Given the description of an element on the screen output the (x, y) to click on. 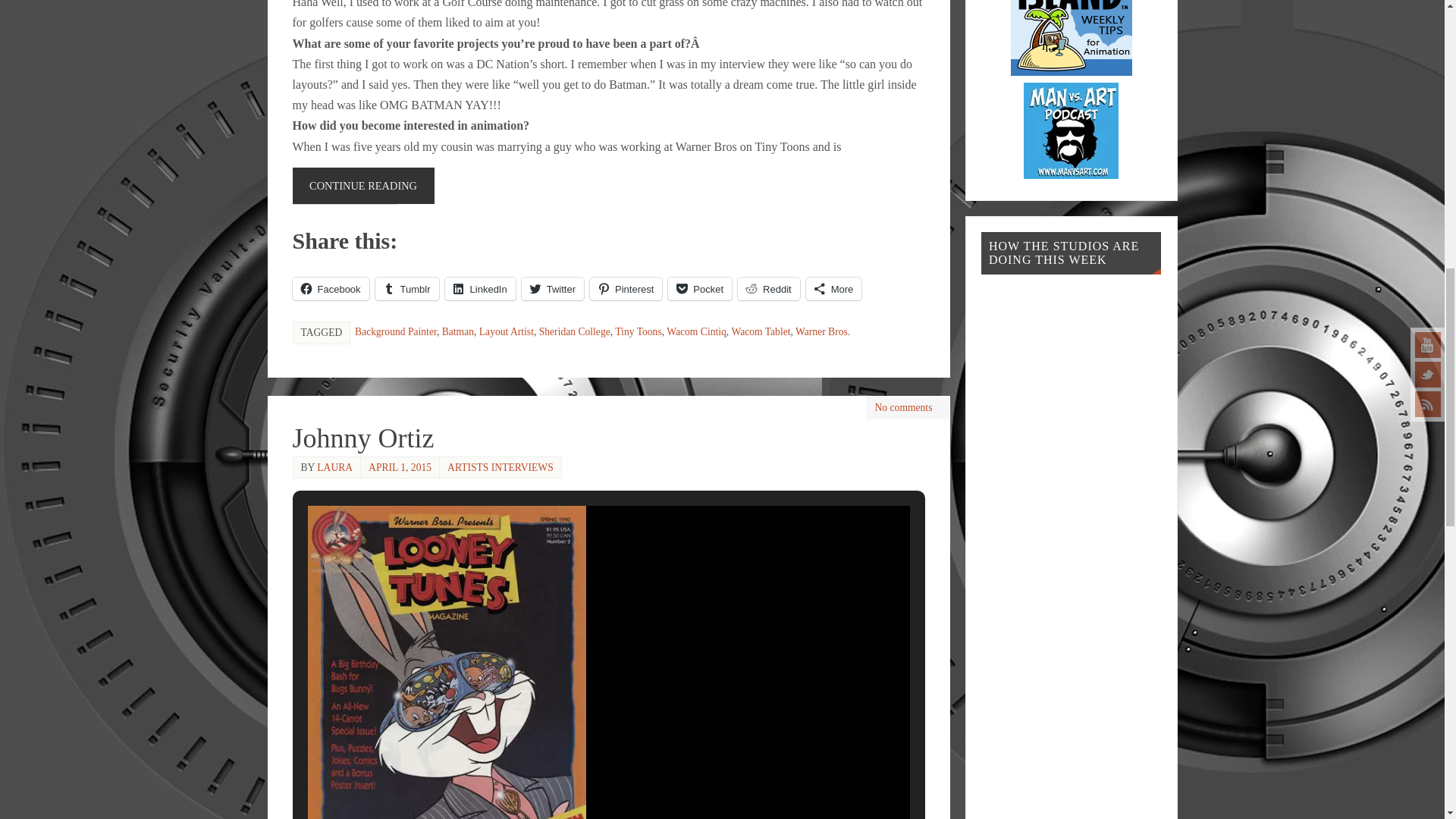
More (833, 288)
Tumblr (407, 288)
Layout Artist (506, 331)
Batman (458, 331)
Facebook (330, 288)
Twitter (552, 288)
Background Painter (395, 331)
CONTINUE READING (362, 185)
Pinterest (625, 288)
LinkedIn (480, 288)
